Given the description of an element on the screen output the (x, y) to click on. 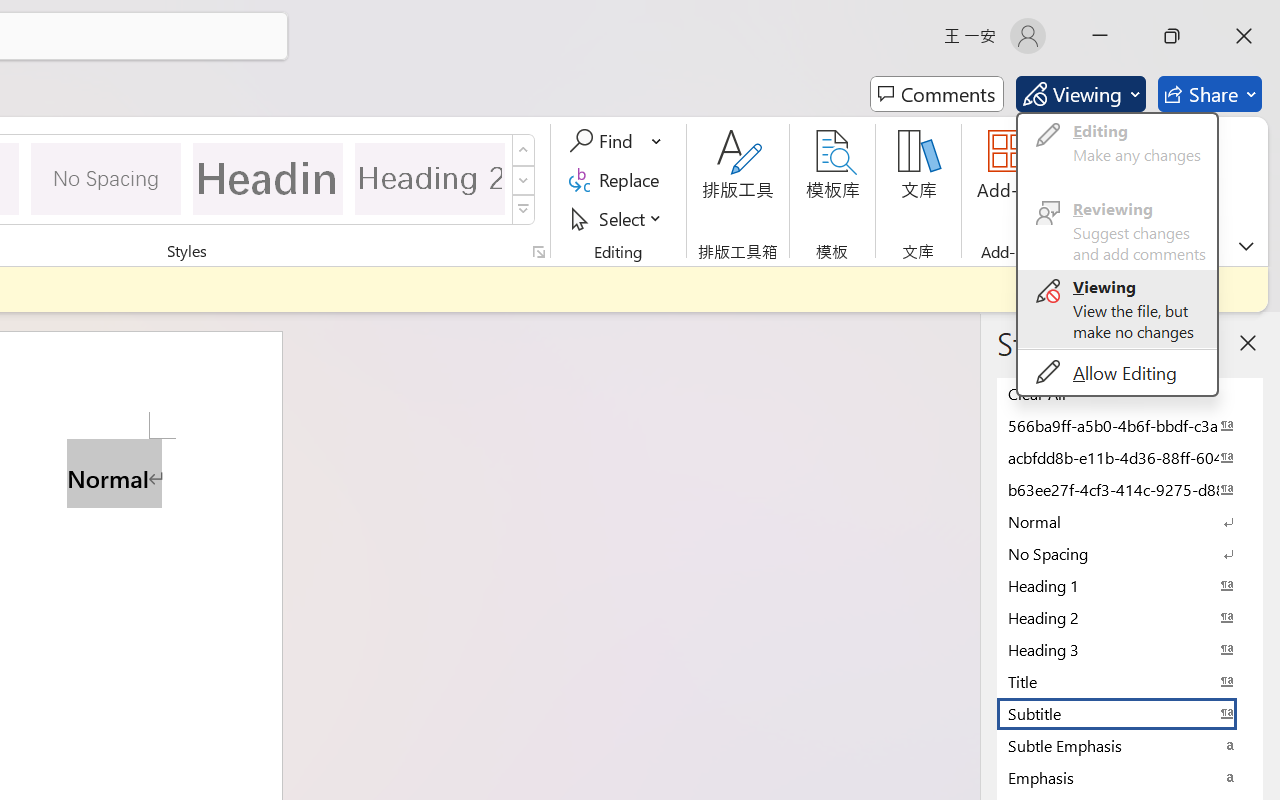
Replace... (617, 179)
b63ee27f-4cf3-414c-9275-d88e3f90795e (1130, 489)
Subtle Emphasis (1130, 745)
